Given the description of an element on the screen output the (x, y) to click on. 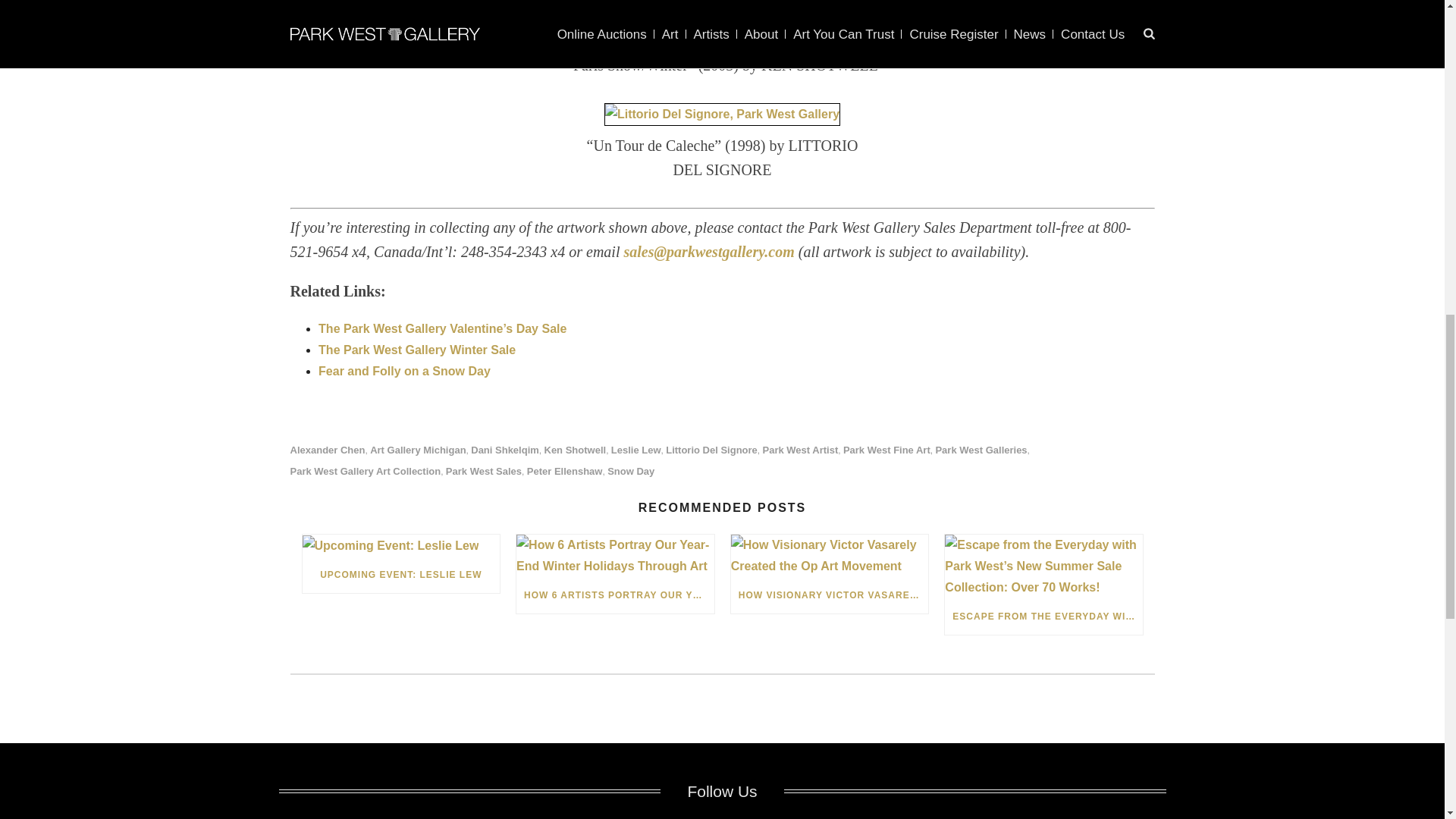
Upcoming Event: Leslie Lew (400, 545)
Permalink to The Park West Gallery Winter Sale (416, 349)
